Given the description of an element on the screen output the (x, y) to click on. 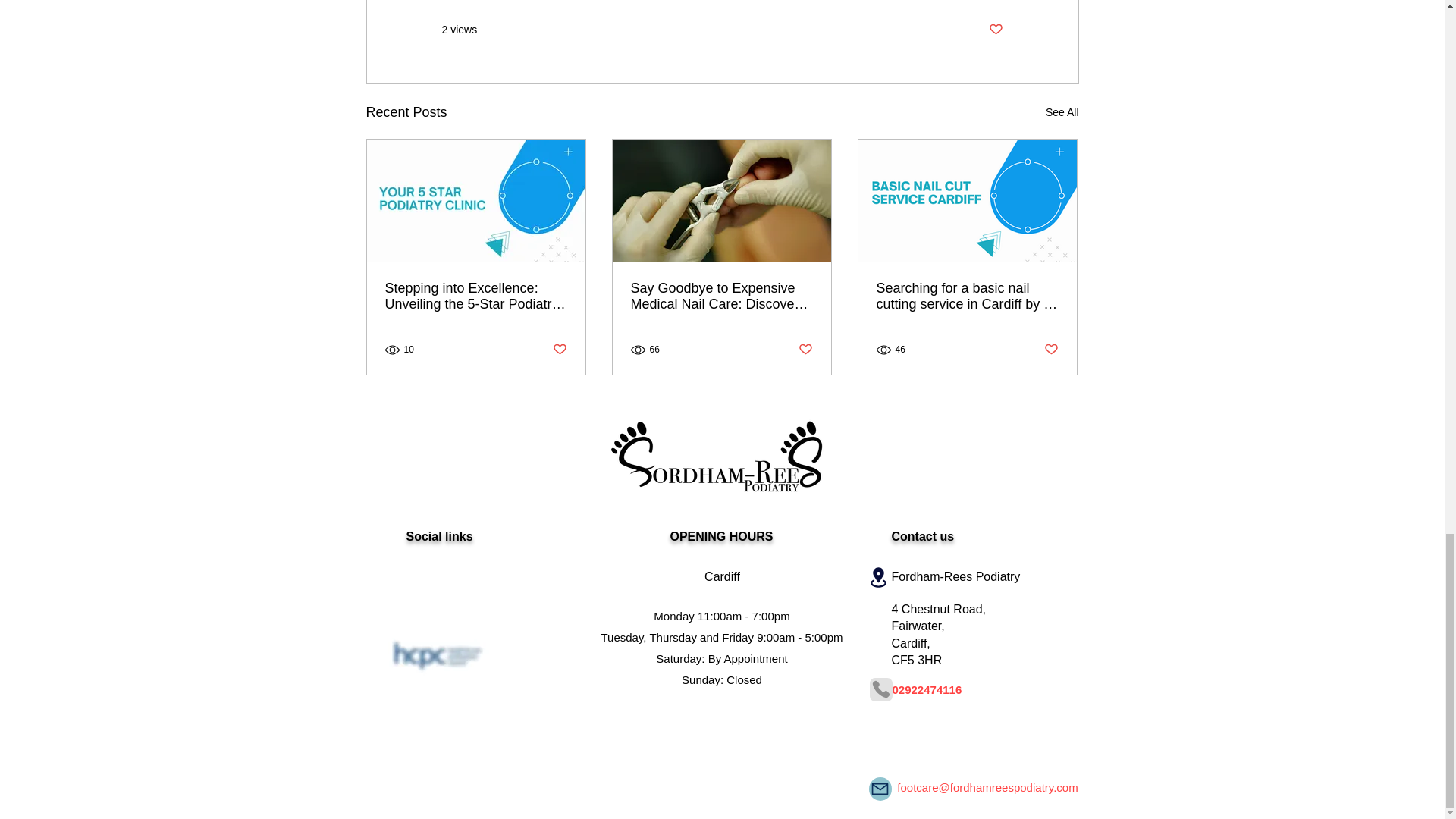
logo fordham.png (710, 452)
